Given the description of an element on the screen output the (x, y) to click on. 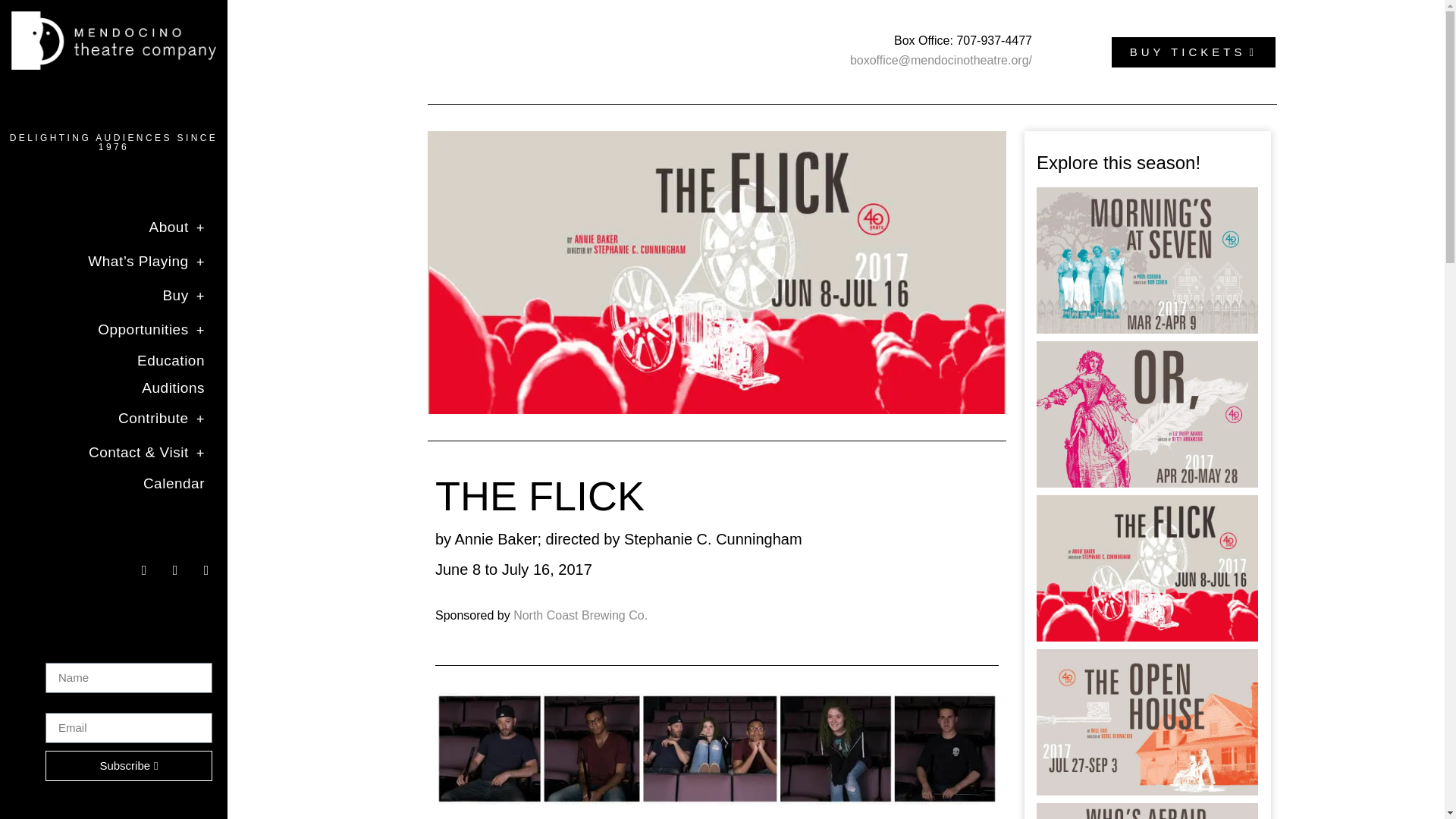
About (113, 227)
Auditions (113, 388)
Education (113, 360)
Calendar (113, 483)
Buy (113, 295)
Contribute (113, 418)
Opportunities (113, 329)
